Given the description of an element on the screen output the (x, y) to click on. 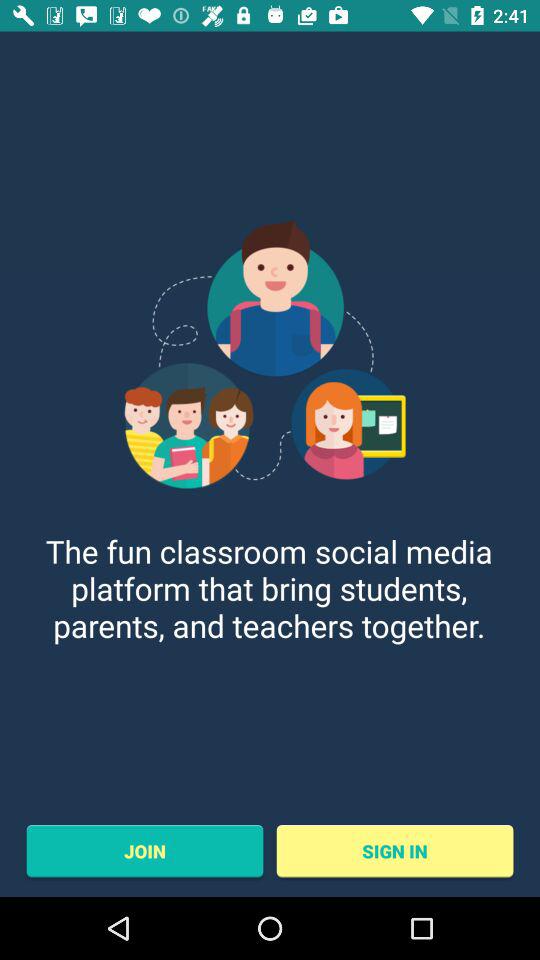
open sign in at the bottom right corner (394, 851)
